Given the description of an element on the screen output the (x, y) to click on. 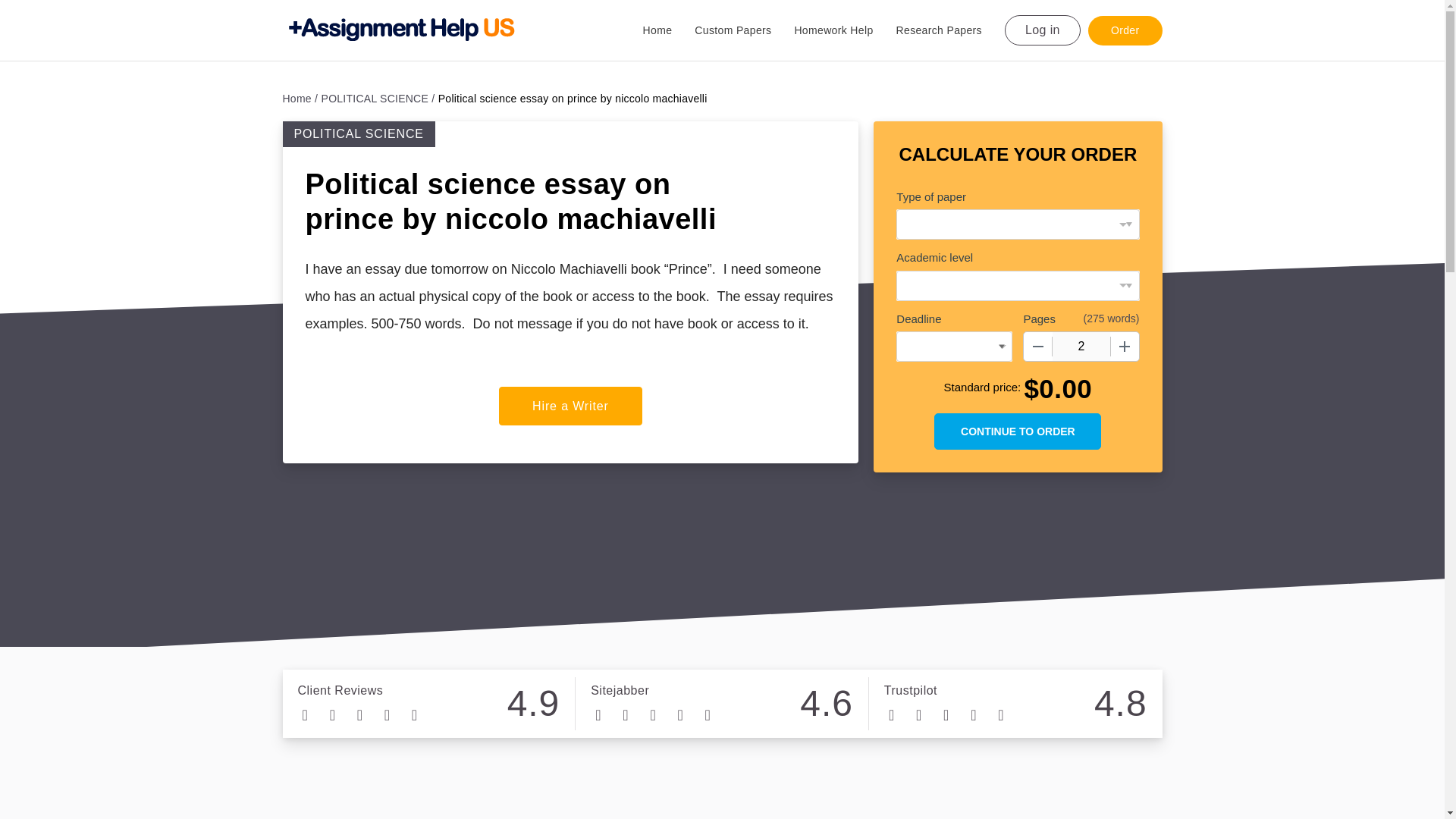
Continue to order (1017, 431)
POLITICAL SCIENCE (378, 98)
Political science essay on prince by niccolo machiavelli (572, 98)
Custom Papers (743, 30)
Continue to order (1017, 431)
Hire a Writer (570, 405)
Homework Help (844, 30)
Decrease (1037, 346)
Research Papers (950, 30)
Home (669, 30)
